Given the description of an element on the screen output the (x, y) to click on. 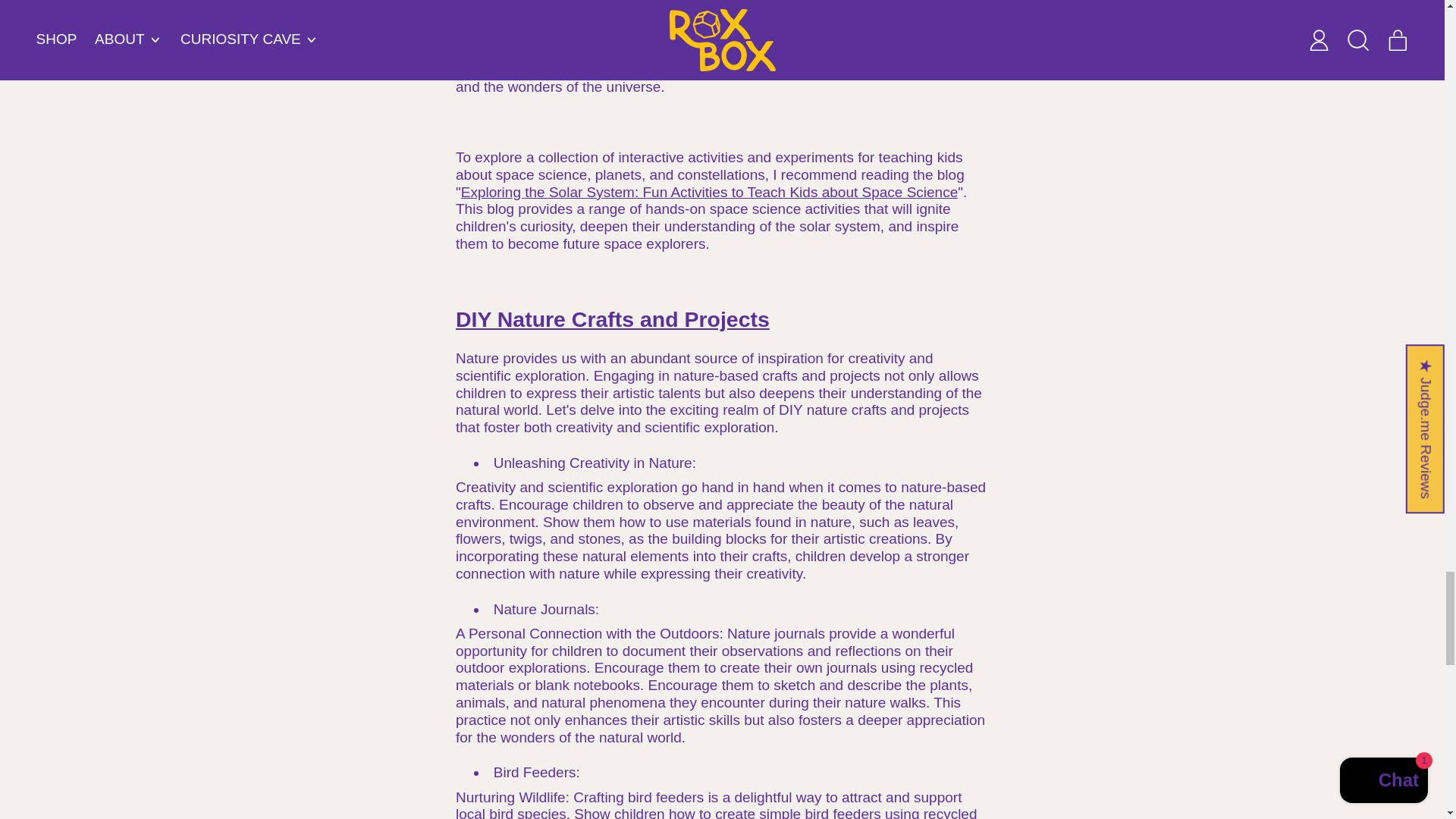
DIY Nature Crafts and Projects (612, 319)
space exploration and activities for kids (709, 191)
nature based and science DIY projects for kids (612, 319)
